Given the description of an element on the screen output the (x, y) to click on. 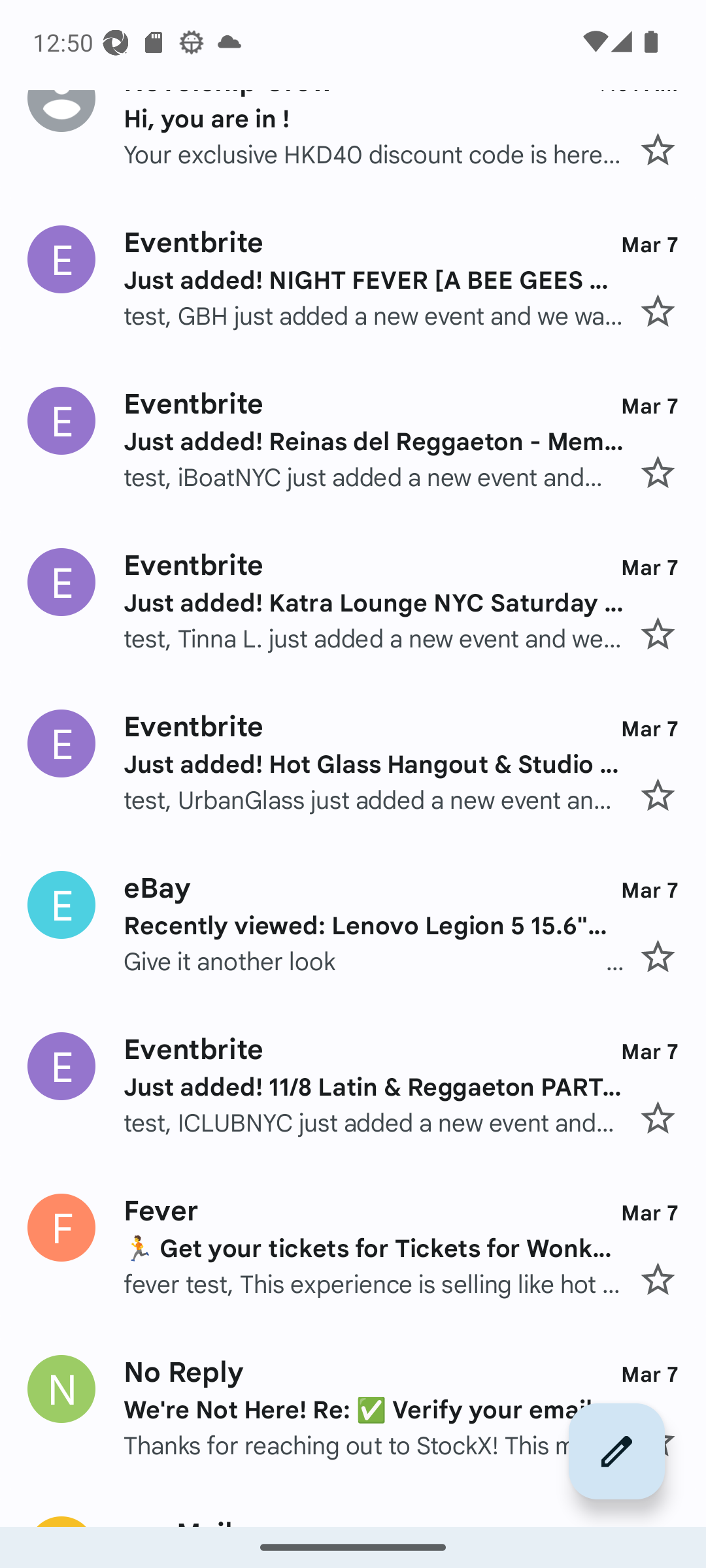
Compose (617, 1451)
